Given the description of an element on the screen output the (x, y) to click on. 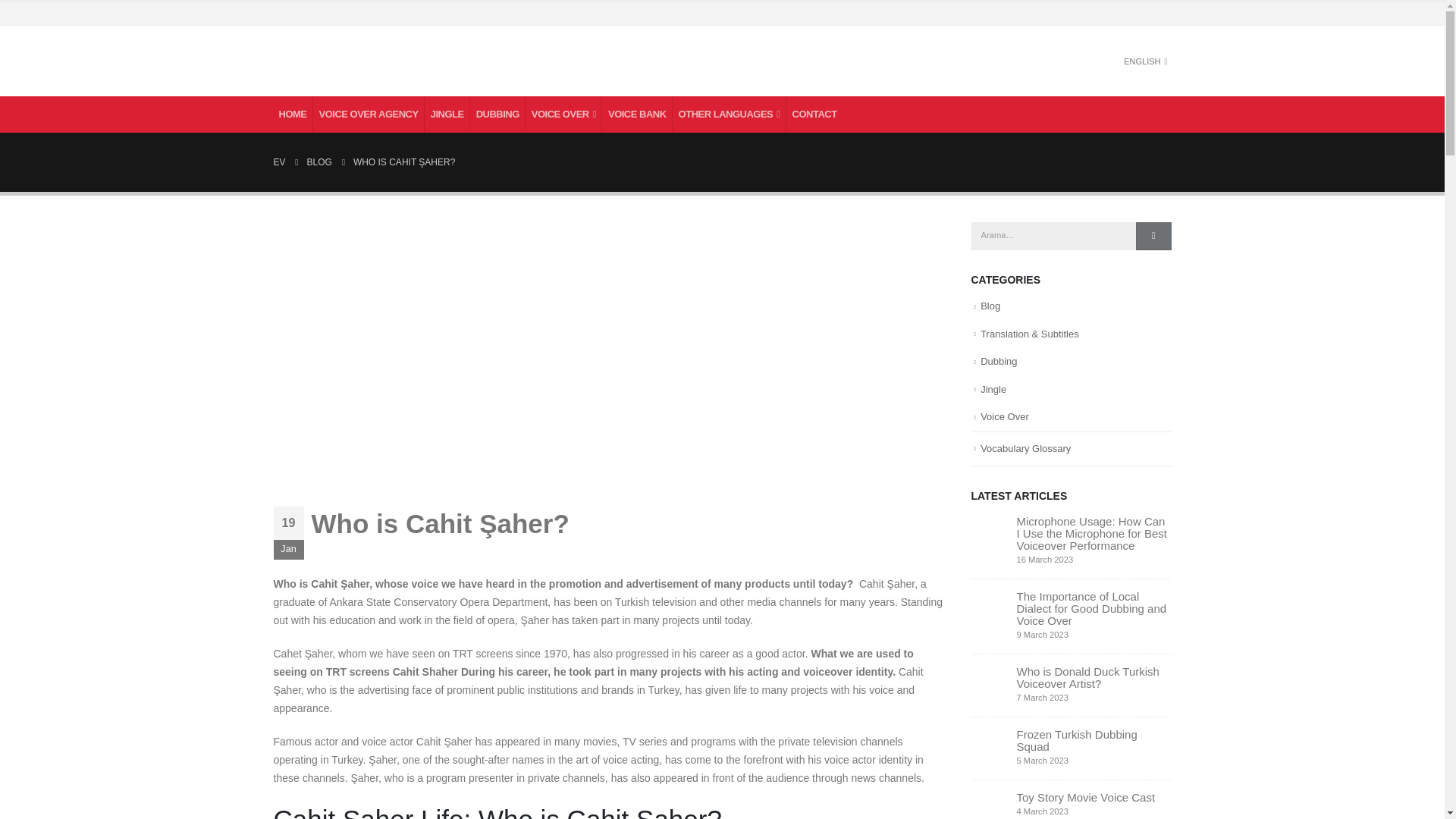
VOICE OVER (563, 114)
DUBBING (497, 114)
English (1113, 60)
VOICE OVER AGENCY (369, 114)
HOME (293, 114)
BiberSA Production - Voice Over Dubbing Agency (402, 60)
ENGLISH (1135, 61)
JINGLE (447, 114)
